Given the description of an element on the screen output the (x, y) to click on. 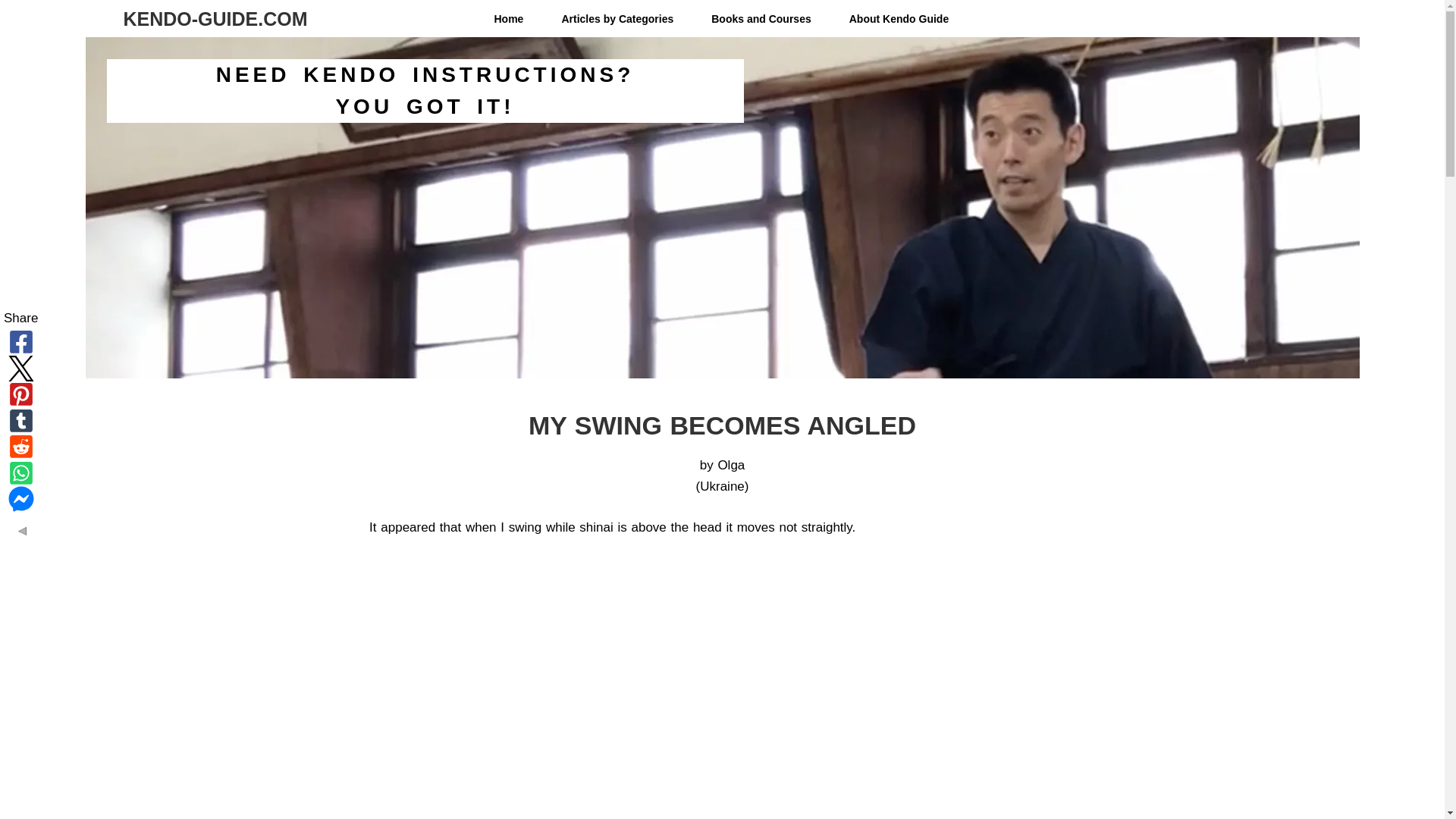
KENDO-GUIDE.COM (214, 17)
Advertisement (721, 684)
Home (507, 18)
Books and Courses (761, 18)
About Kendo Guide (898, 18)
Articles by Categories (617, 18)
